Given the description of an element on the screen output the (x, y) to click on. 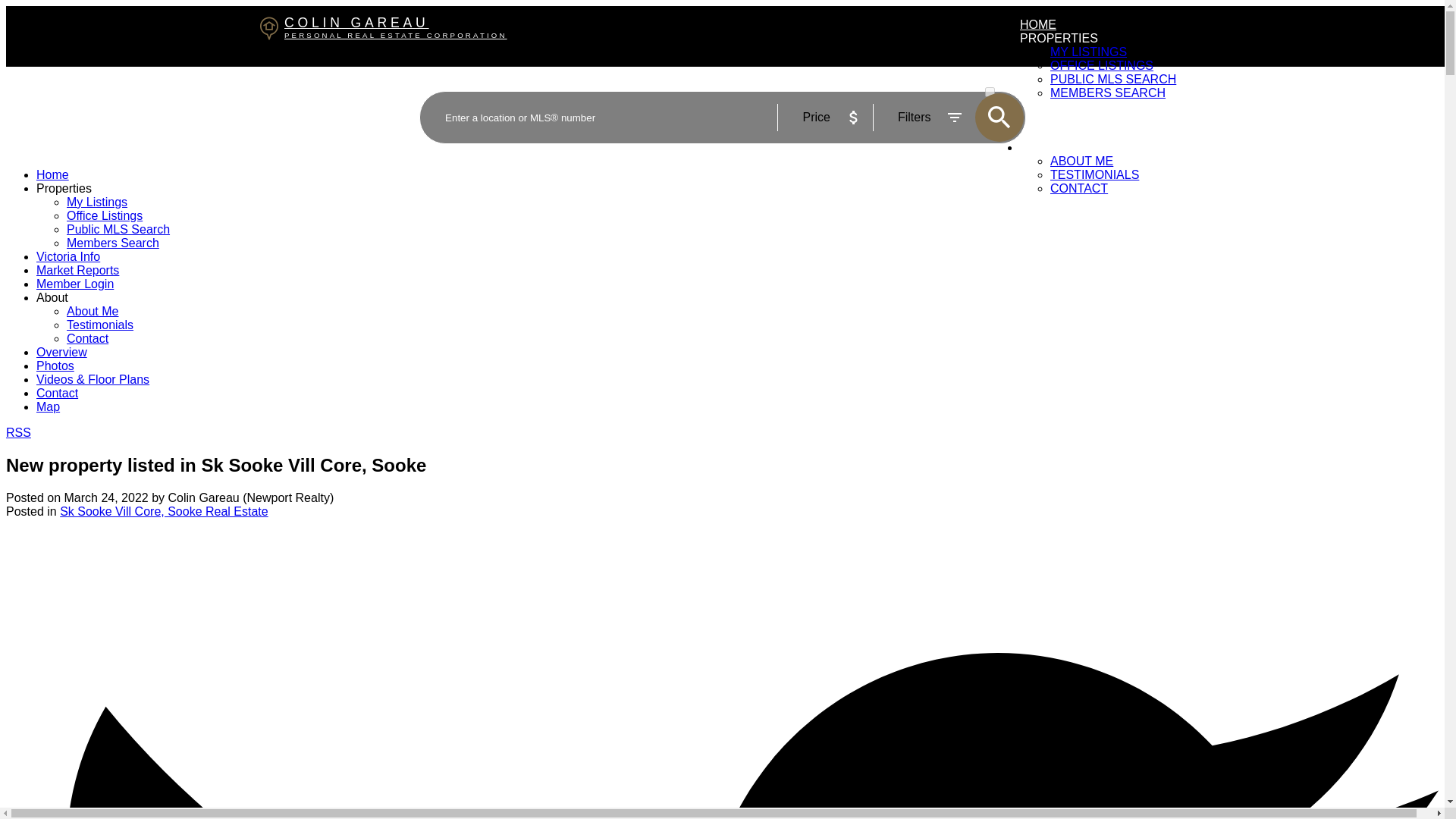
PUBLIC MLS SEARCH (1112, 78)
ABOUT ME (1081, 160)
Member Login (504, 106)
true (74, 283)
Office Listings (989, 91)
MEMBERS SEARCH (104, 215)
OFFICE LISTINGS (1107, 92)
Members Search (1101, 65)
MY LISTINGS (112, 242)
